Given the description of an element on the screen output the (x, y) to click on. 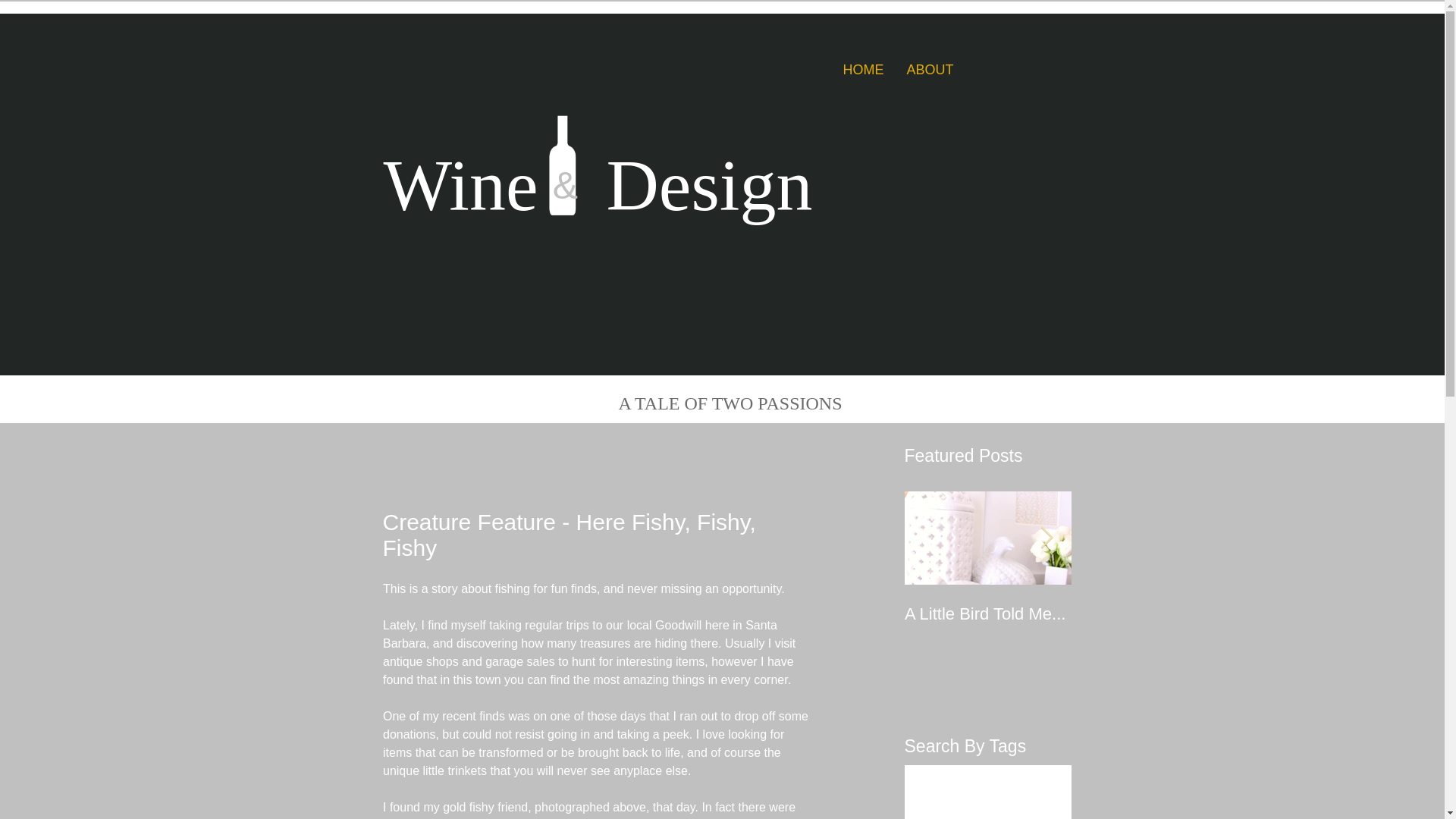
bottle.gif (562, 165)
Wine Wednesday - Home Made (1153, 623)
HOME (863, 69)
A Little Bird Told Me... (987, 614)
ABOUT (929, 69)
